Given the description of an element on the screen output the (x, y) to click on. 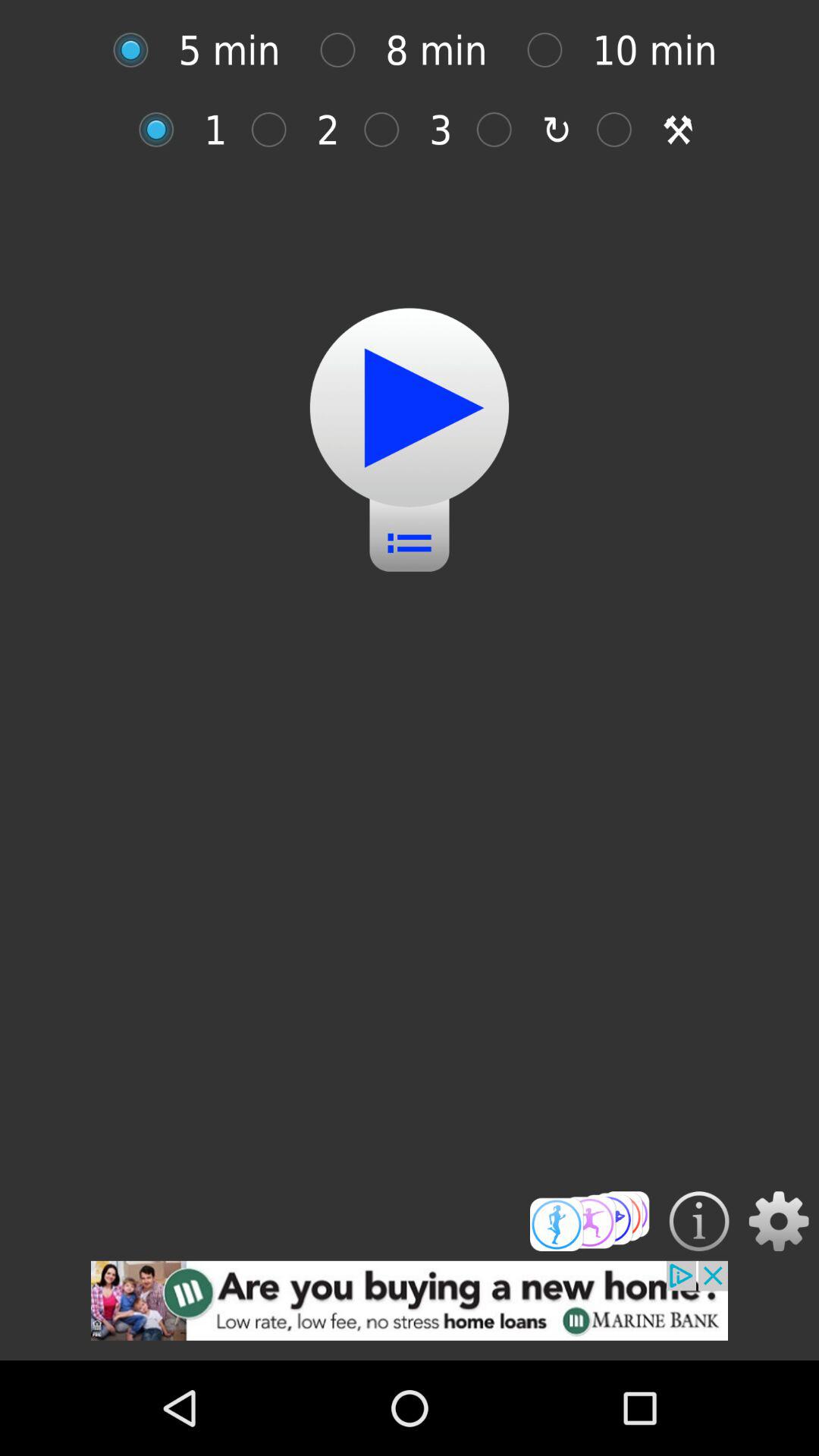
click to minutes options (552, 49)
